Given the description of an element on the screen output the (x, y) to click on. 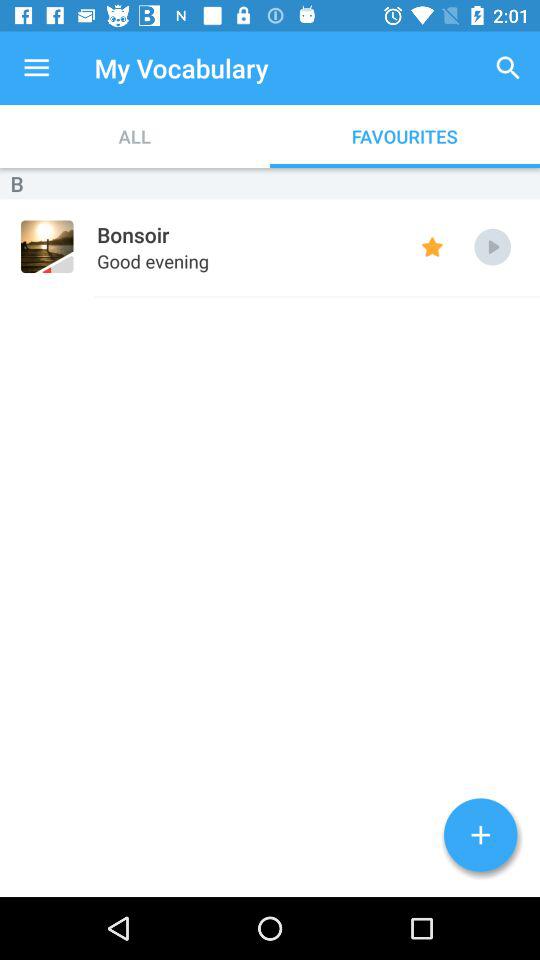
favourites keys (432, 246)
